Given the description of an element on the screen output the (x, y) to click on. 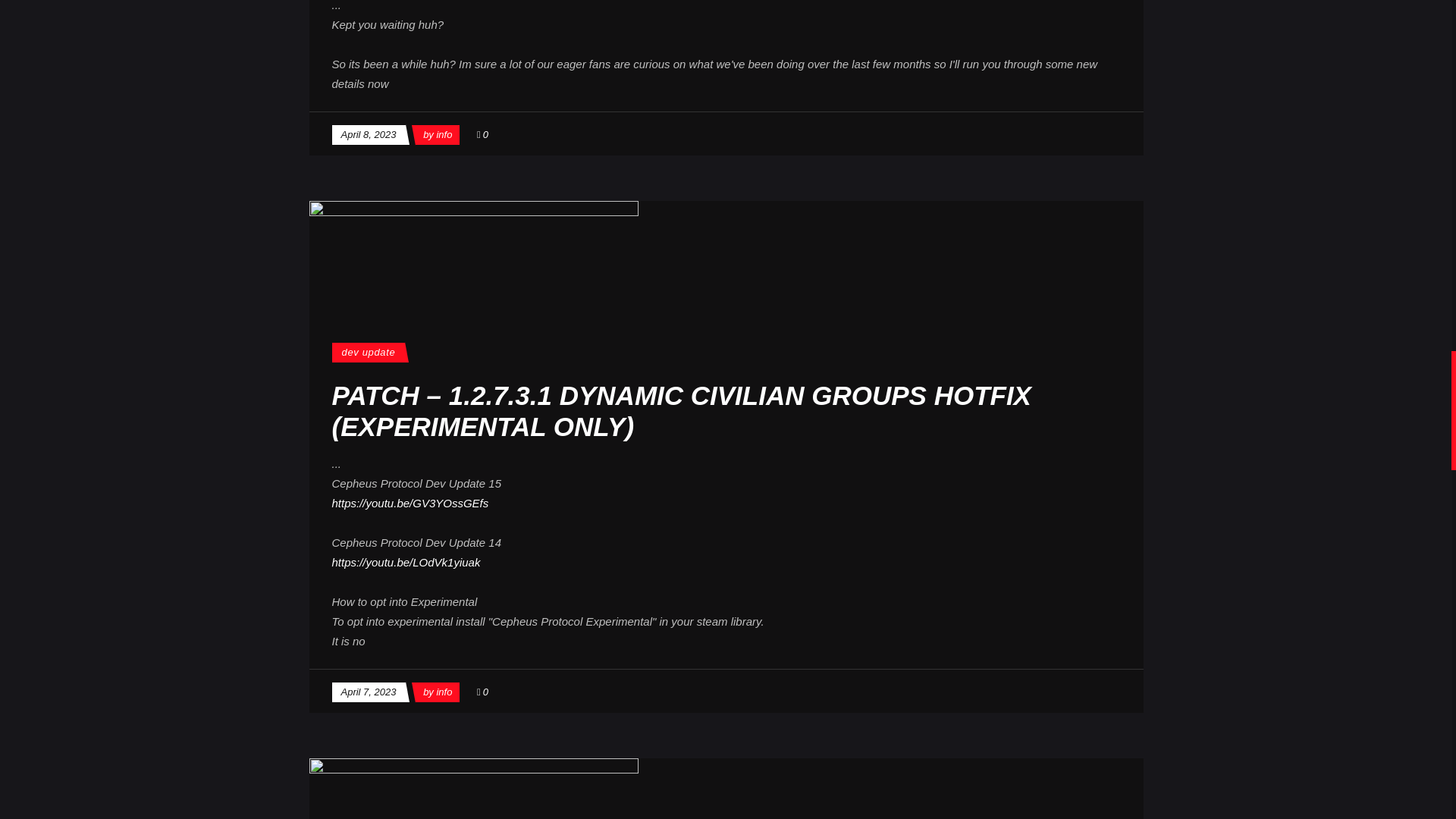
Like this (482, 691)
Like this (482, 134)
